Given the description of an element on the screen output the (x, y) to click on. 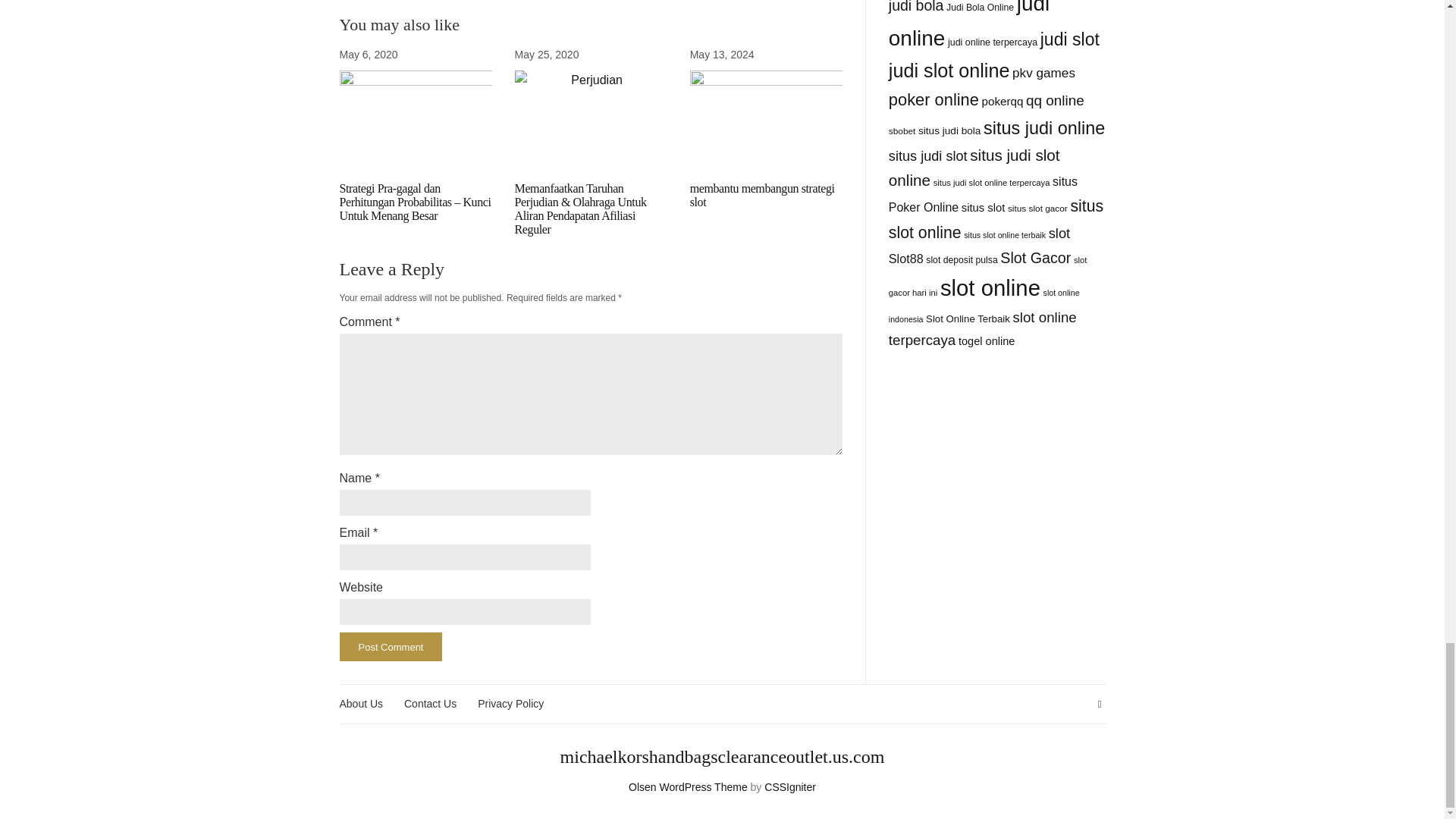
Blogging theme for WordPress (688, 787)
Post Comment (390, 646)
membantu membangun strategi slot (762, 194)
Post Comment (390, 646)
